Given the description of an element on the screen output the (x, y) to click on. 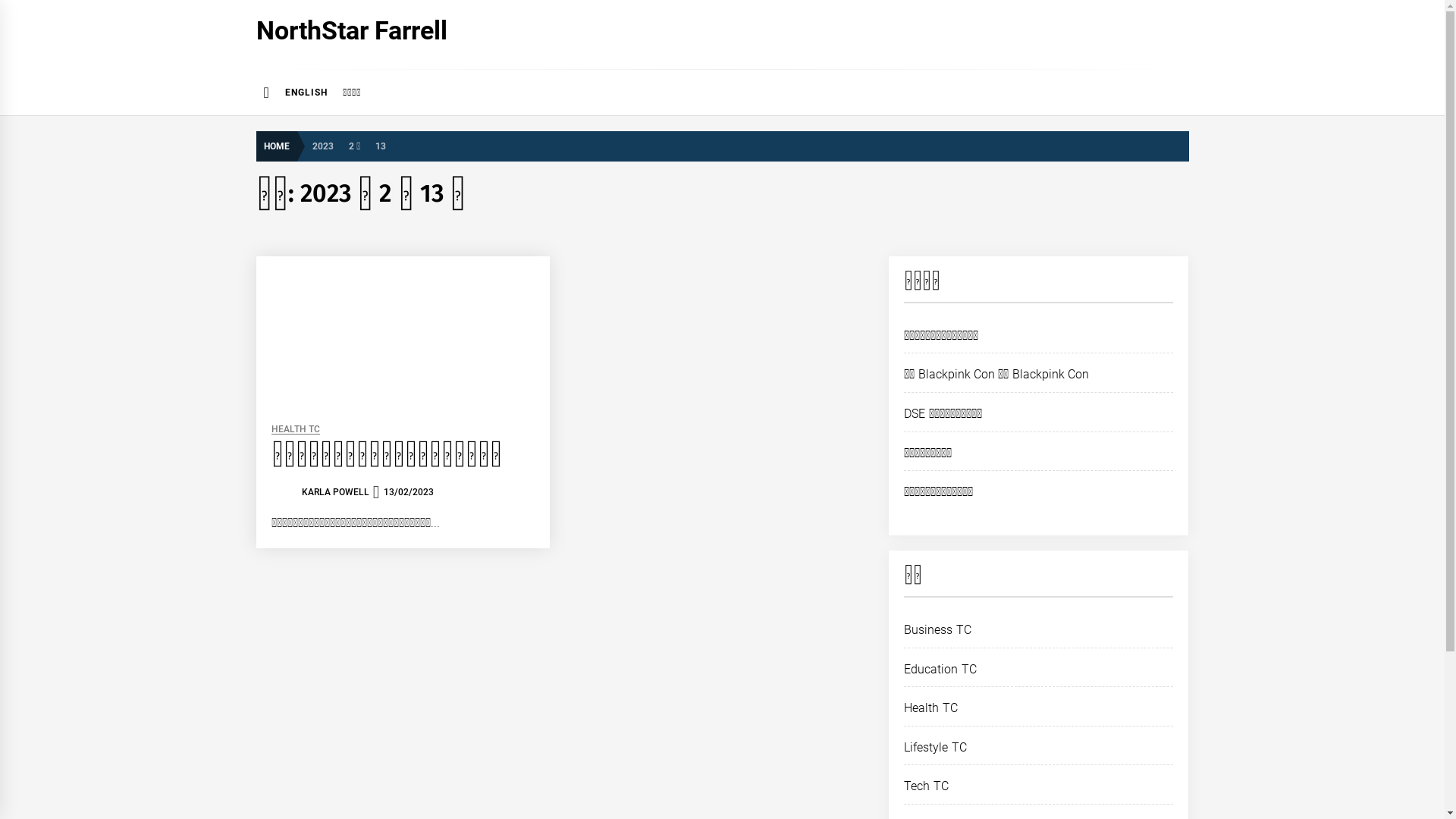
NorthStar Farrell Element type: text (351, 30)
Tech TC Element type: text (925, 785)
2023 Element type: text (322, 145)
Home Element type: hover (266, 92)
Education TC Element type: text (939, 669)
Business TC Element type: text (936, 629)
Lifestyle TC Element type: text (934, 747)
HOME Element type: text (280, 146)
13 Element type: text (380, 145)
13/02/2023 Element type: text (408, 491)
KARLA POWELL Element type: text (335, 491)
ENGLISH Element type: text (306, 92)
Health TC Element type: text (930, 707)
HEALTH TC Element type: text (295, 429)
